Given the description of an element on the screen output the (x, y) to click on. 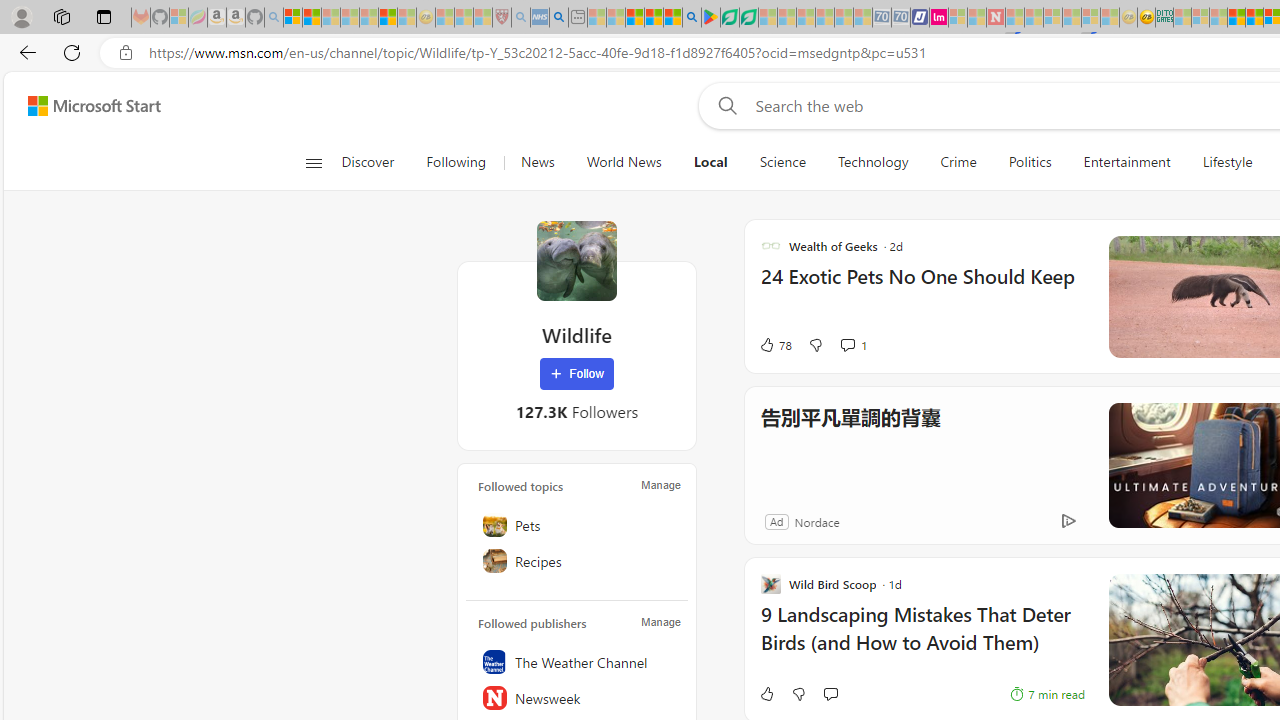
utah sues federal government - Search (559, 17)
Terms of Use Agreement (729, 17)
24 Exotic Pets No One Should Keep (922, 286)
